Given the description of an element on the screen output the (x, y) to click on. 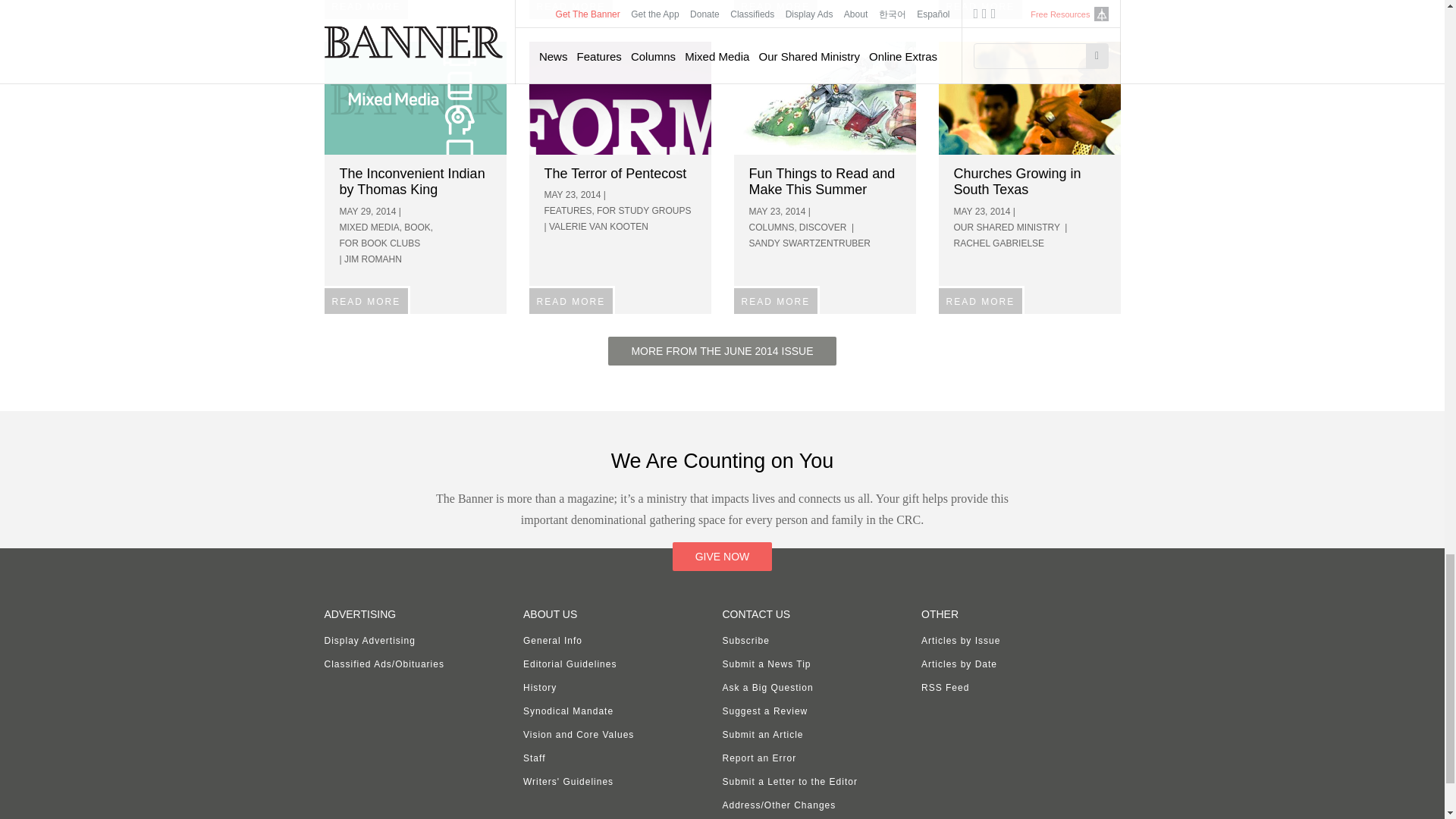
Mixed Media (415, 97)
